Given the description of an element on the screen output the (x, y) to click on. 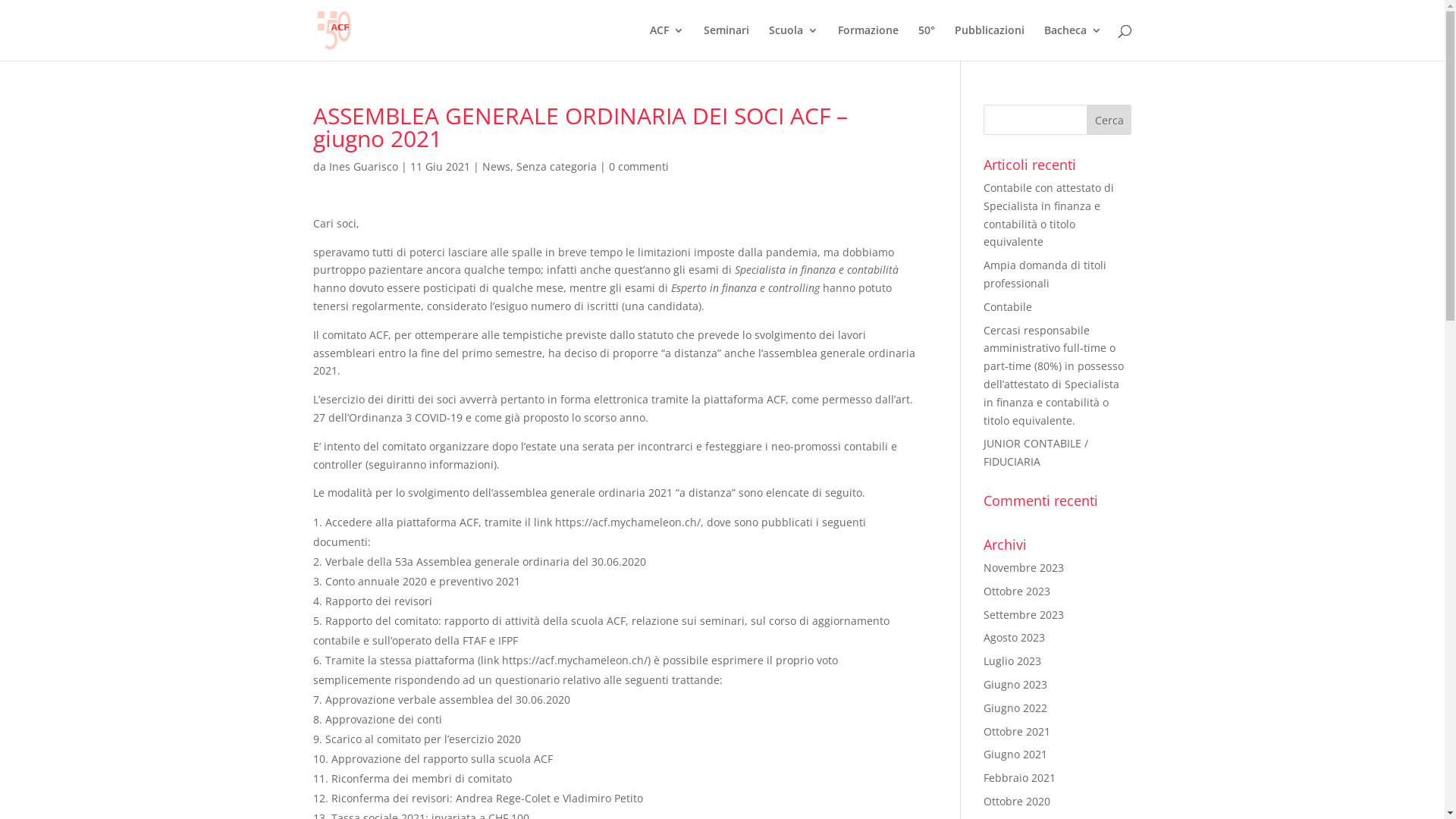
Novembre 2023 Element type: text (1023, 567)
Ampia domanda di titoli professionali Element type: text (1044, 273)
Giugno 2023 Element type: text (1015, 684)
Ines Guarisco Element type: text (363, 166)
Scuola Element type: text (793, 42)
Seminari Element type: text (726, 42)
Giugno 2022 Element type: text (1015, 707)
News Element type: text (496, 166)
Cerca Element type: text (1109, 119)
Contabile Element type: text (1007, 306)
Bacheca Element type: text (1072, 42)
JUNIOR CONTABILE / FIDUCIARIA Element type: text (1035, 452)
Settembre 2023 Element type: text (1023, 614)
ACF Element type: text (666, 42)
Senza categoria Element type: text (555, 166)
Formazione Element type: text (867, 42)
Pubblicazioni Element type: text (988, 42)
Agosto 2023 Element type: text (1013, 637)
Febbraio 2021 Element type: text (1019, 777)
Luglio 2023 Element type: text (1012, 660)
Ottobre 2021 Element type: text (1016, 731)
Giugno 2021 Element type: text (1015, 753)
0 commenti Element type: text (638, 166)
Ottobre 2020 Element type: text (1016, 800)
Ottobre 2023 Element type: text (1016, 590)
